Given the description of an element on the screen output the (x, y) to click on. 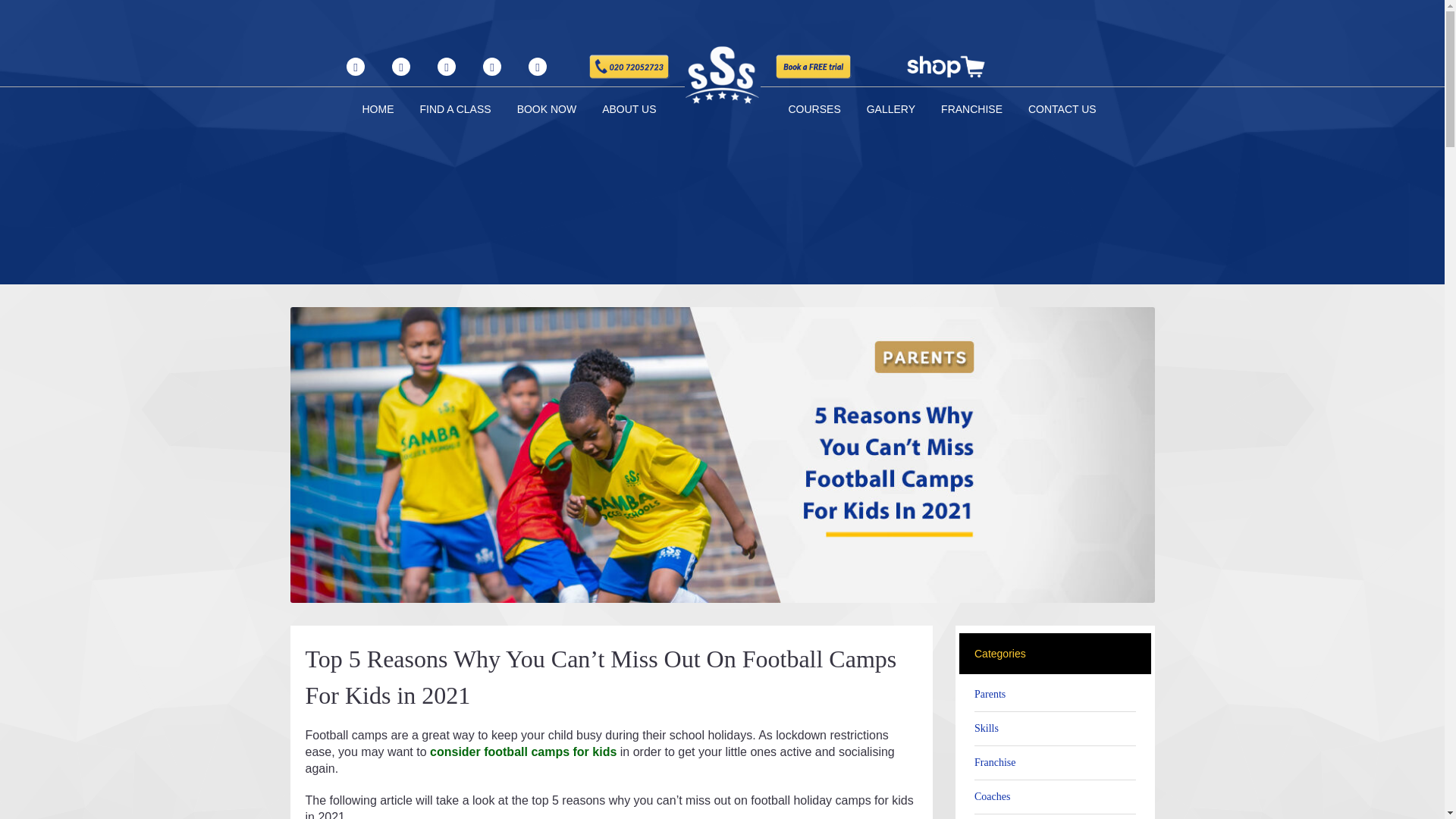
BOOK NOW (546, 109)
ABOUT US (629, 109)
FIND A CLASS (454, 109)
HOME (377, 109)
